Given the description of an element on the screen output the (x, y) to click on. 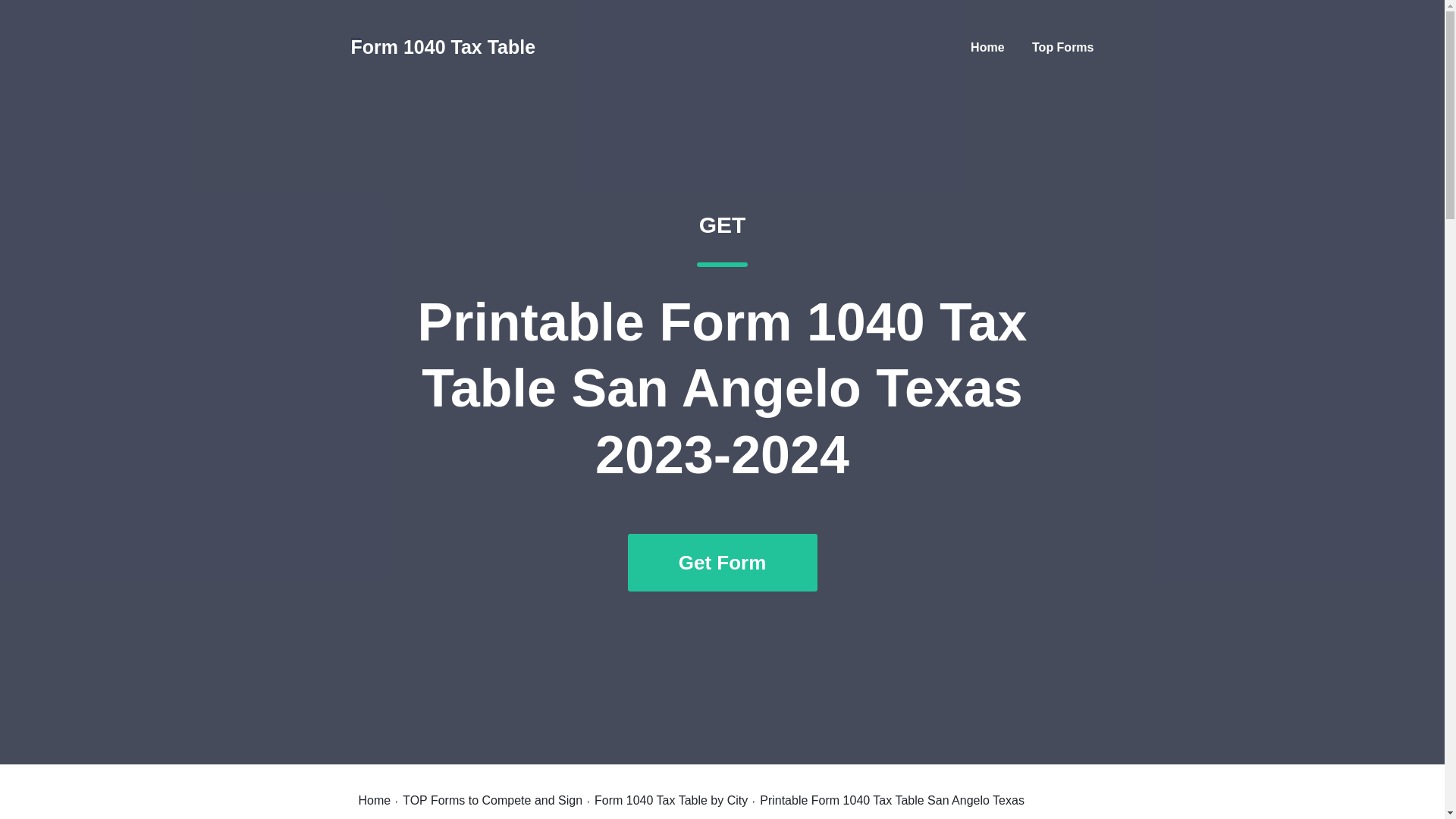
TOP Forms to Compete and Sign (492, 800)
Home (987, 47)
Home (374, 800)
Form 1040 Tax Table by City (671, 800)
Top Forms (1062, 47)
Form 1040 Tax Table (442, 46)
